Given the description of an element on the screen output the (x, y) to click on. 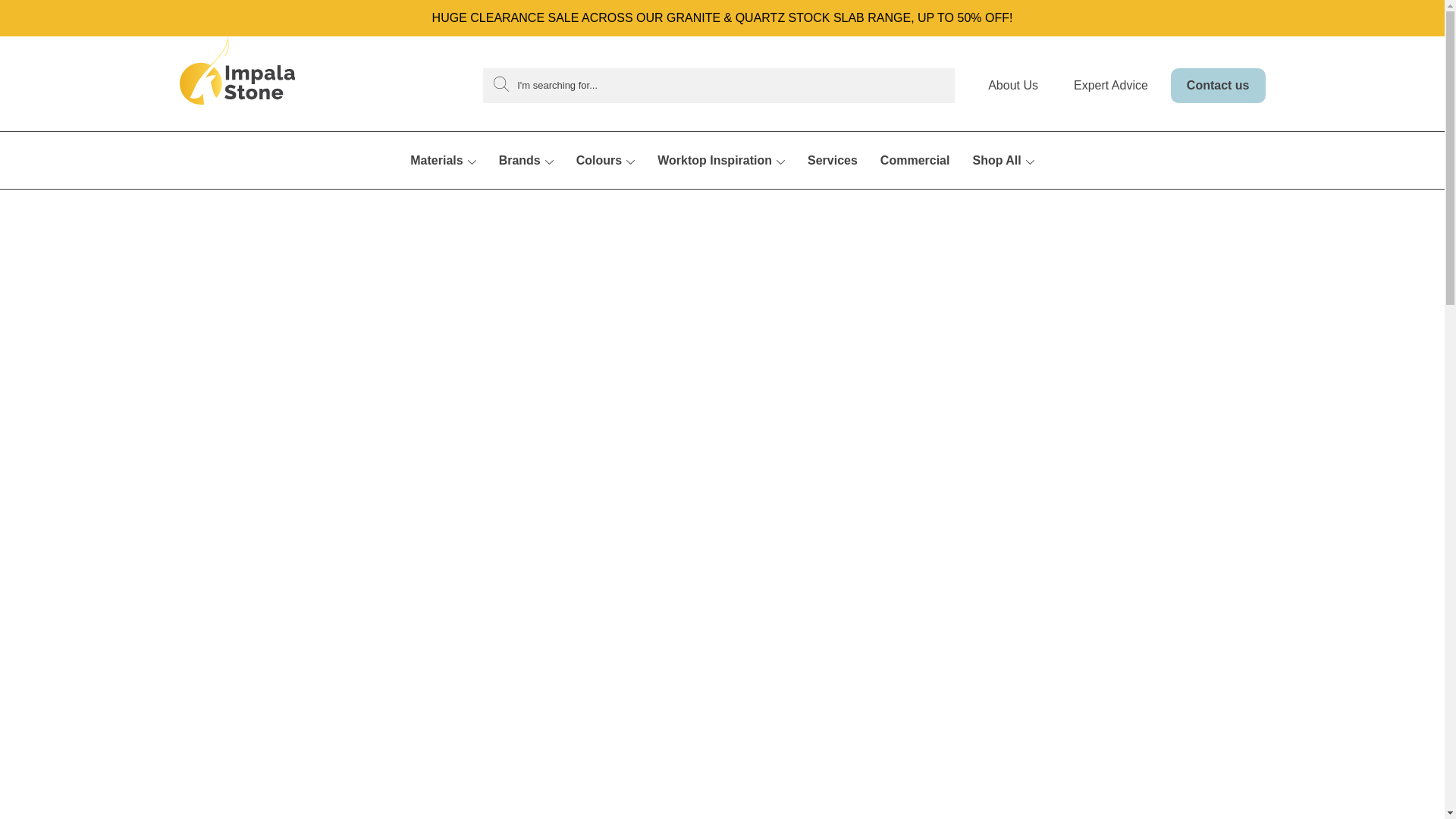
Contact us (1217, 85)
Brands (526, 178)
Materials (443, 178)
Expert Advice (1111, 84)
About Us (1019, 95)
